Given the description of an element on the screen output the (x, y) to click on. 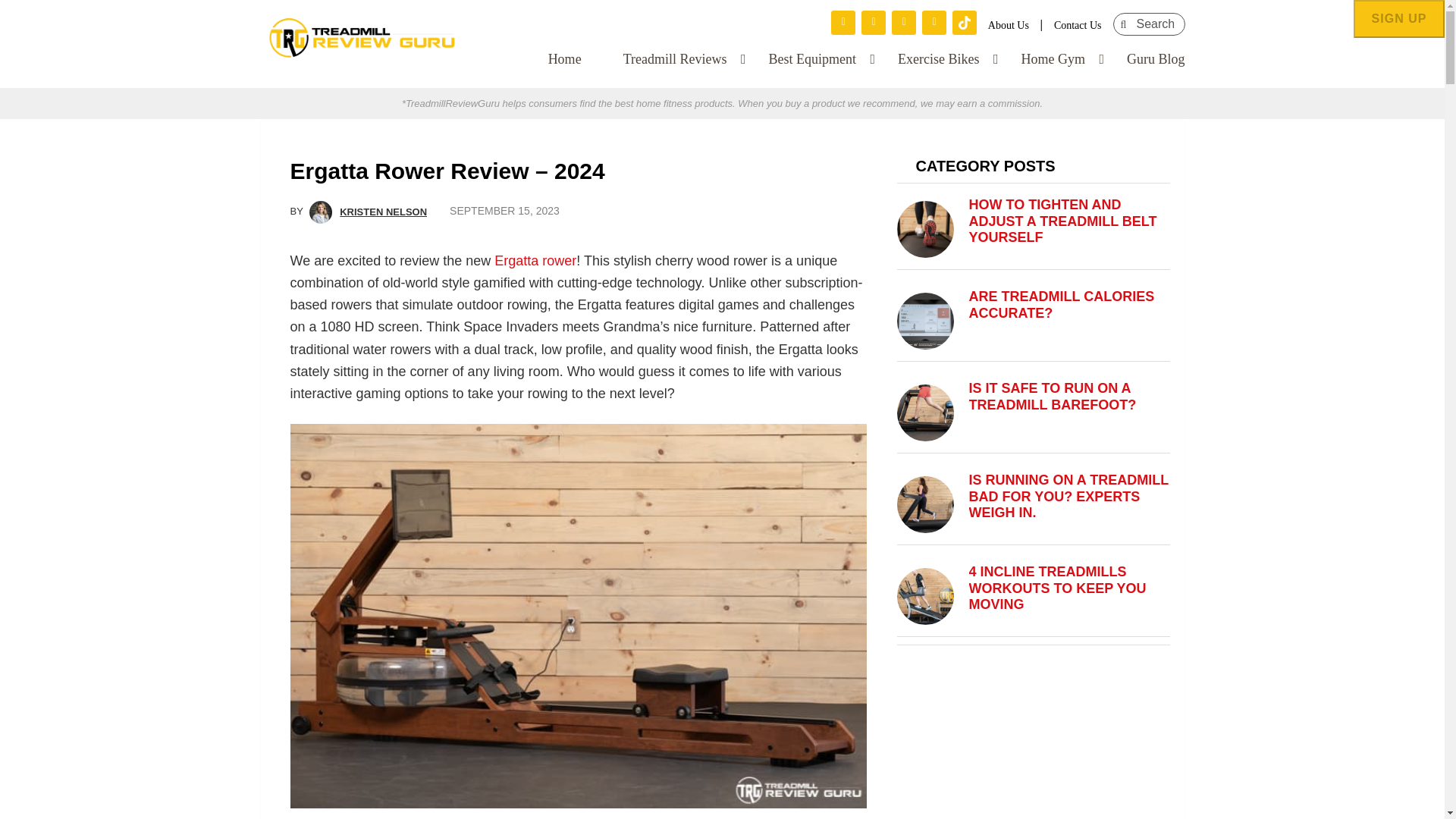
Instagram (873, 22)
Facebook (843, 22)
Twitter (903, 22)
Search (1112, 21)
YouTube (933, 22)
TikTok (964, 22)
Search (1112, 21)
